Given the description of an element on the screen output the (x, y) to click on. 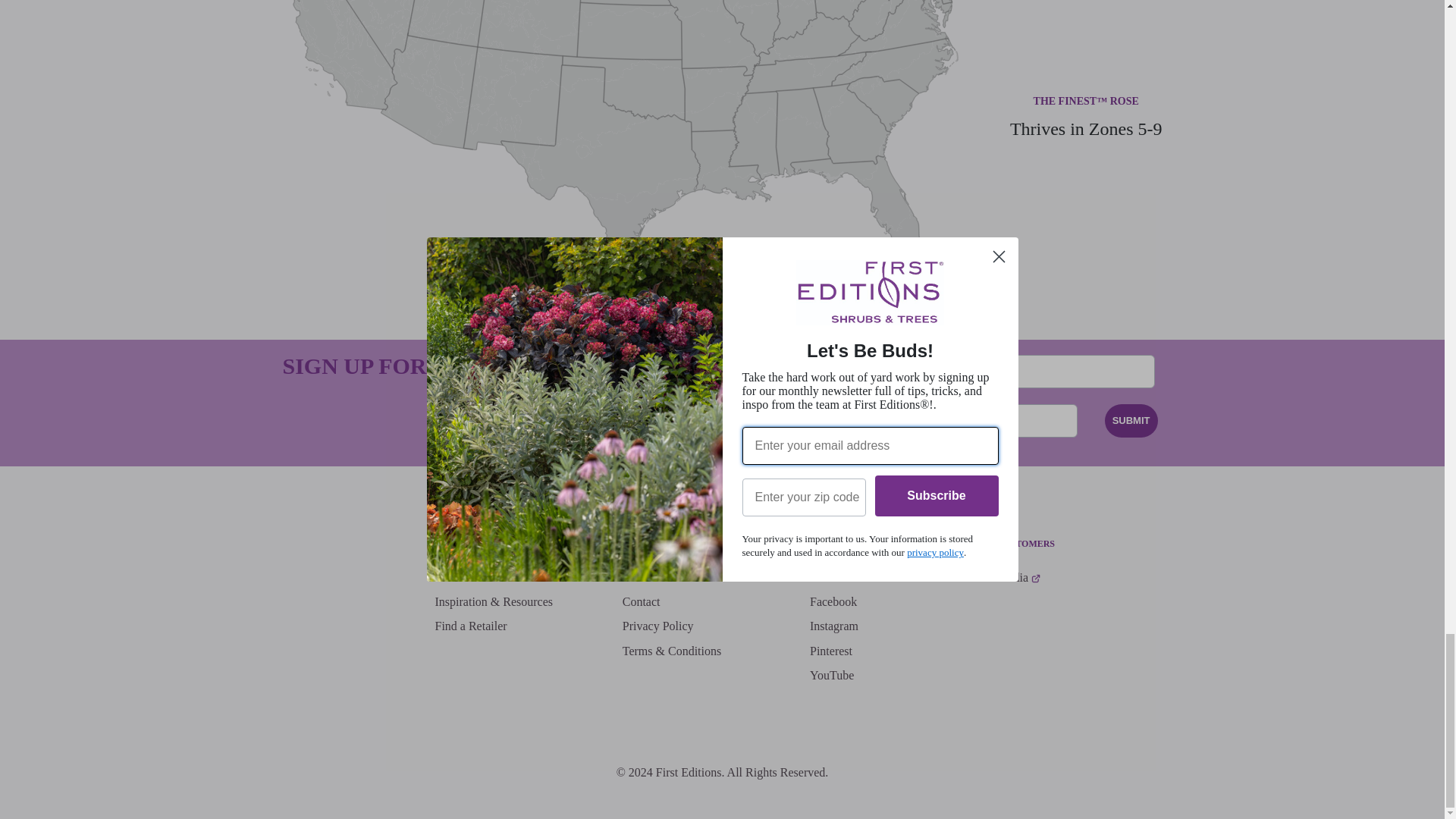
About Us (646, 577)
Connect With Us (850, 577)
Facebook (832, 601)
SOCIAL (826, 547)
Find a Retailer (470, 626)
Privacy Policy (657, 626)
The Plants (460, 577)
COMPANY (646, 547)
Contact (641, 601)
FIRST EDITIONS (471, 547)
Pinterest (830, 651)
SUBMIT (1131, 420)
Instagram (833, 626)
